Given the description of an element on the screen output the (x, y) to click on. 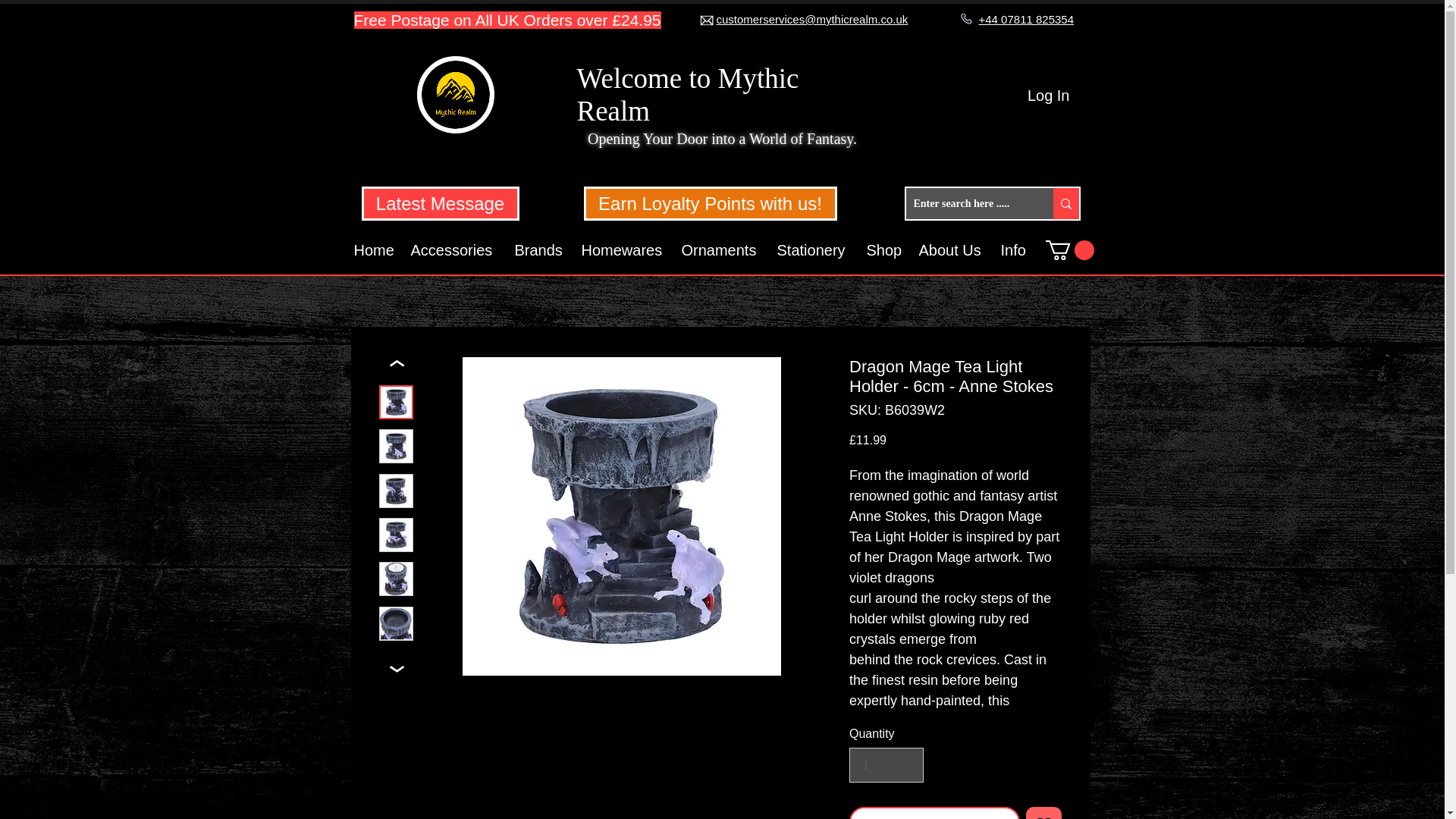
1 (885, 764)
Home (374, 250)
Ornaments (720, 250)
Log In (1048, 95)
Earn Loyalty Points with us! (710, 203)
Latest Message (439, 203)
